Given the description of an element on the screen output the (x, y) to click on. 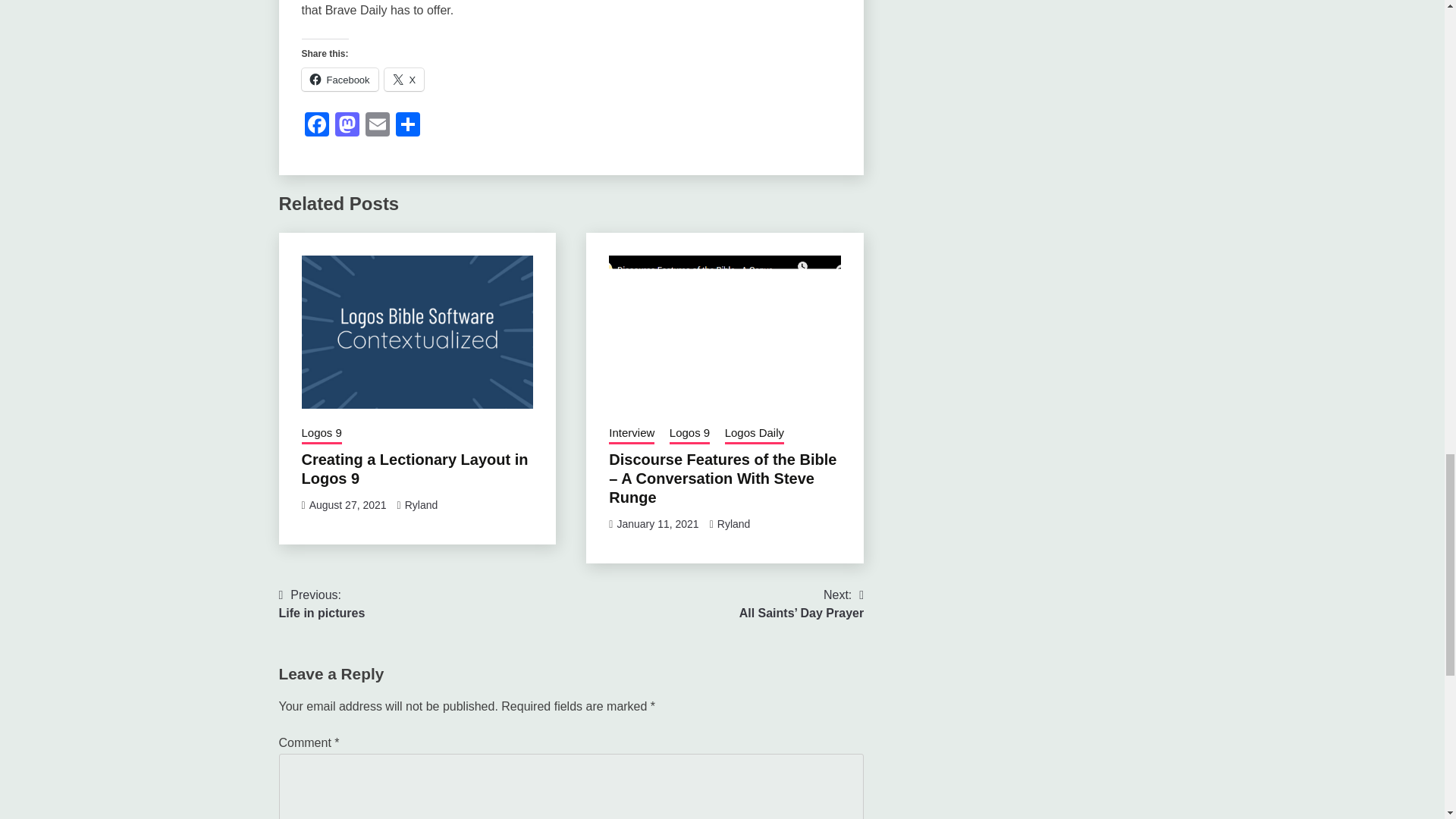
Facebook (316, 126)
Logos Daily (754, 434)
August 27, 2021 (347, 504)
Ryland (421, 504)
Interview (630, 434)
Facebook (316, 126)
Logos 9 (689, 434)
Facebook (339, 78)
Logos 9 (321, 434)
Click to share on Facebook (339, 78)
